Given the description of an element on the screen output the (x, y) to click on. 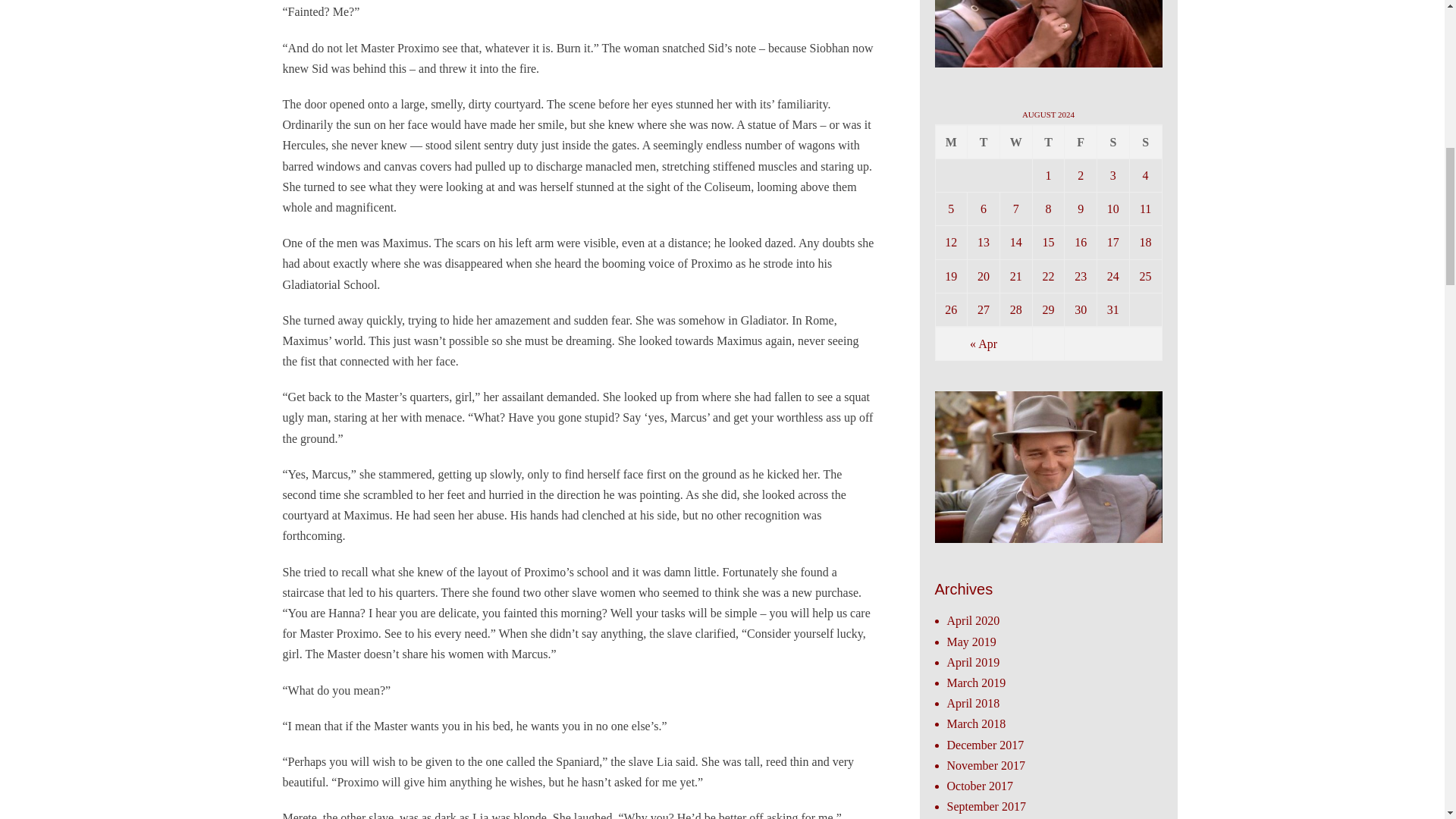
Sunday (1145, 141)
Thursday (1048, 141)
Friday (1080, 141)
Wednesday (1016, 141)
Monday (952, 141)
Saturday (1113, 141)
Tuesday (984, 141)
